Given the description of an element on the screen output the (x, y) to click on. 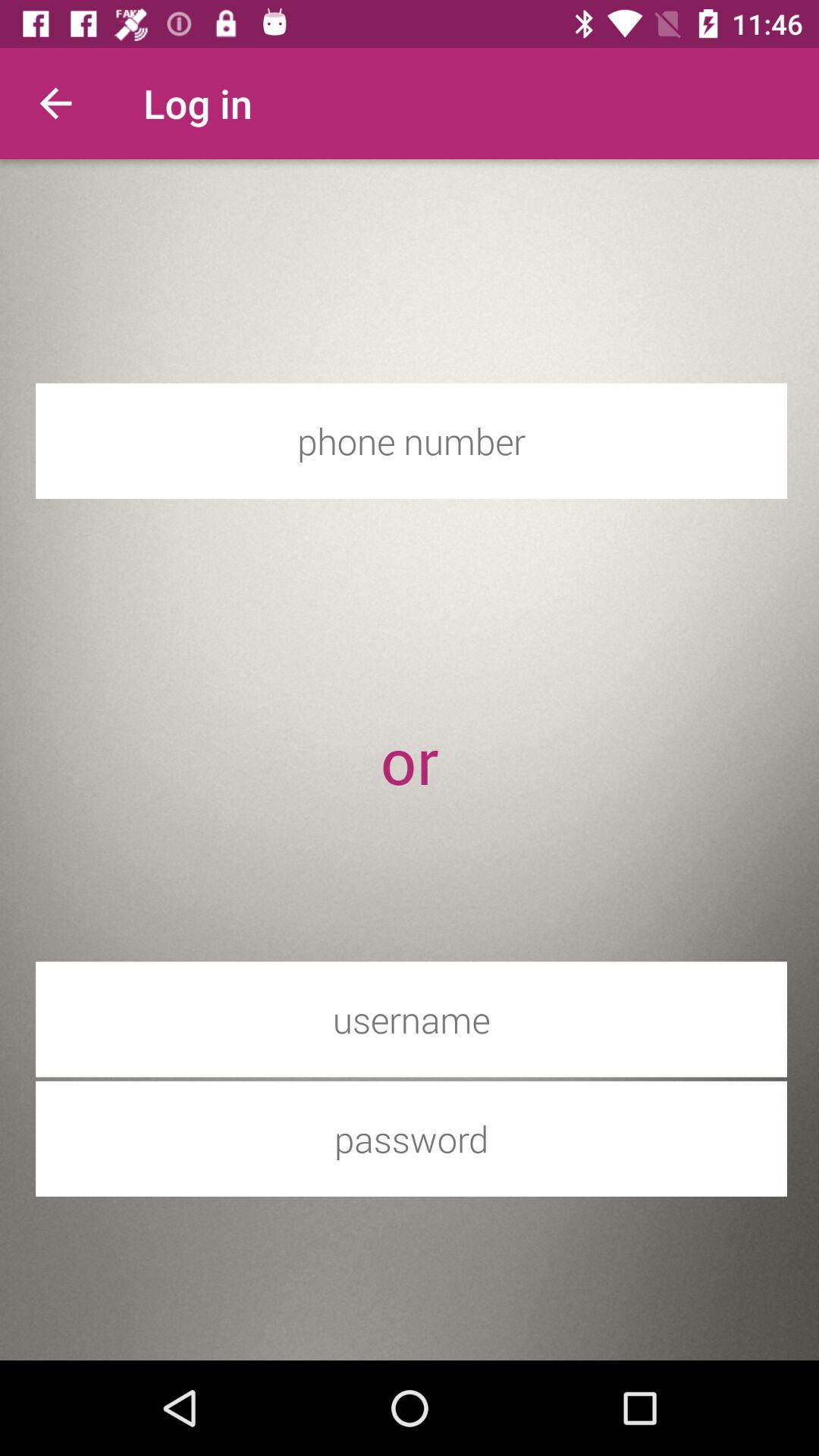
turn on the icon to the left of the log in item (55, 103)
